Given the description of an element on the screen output the (x, y) to click on. 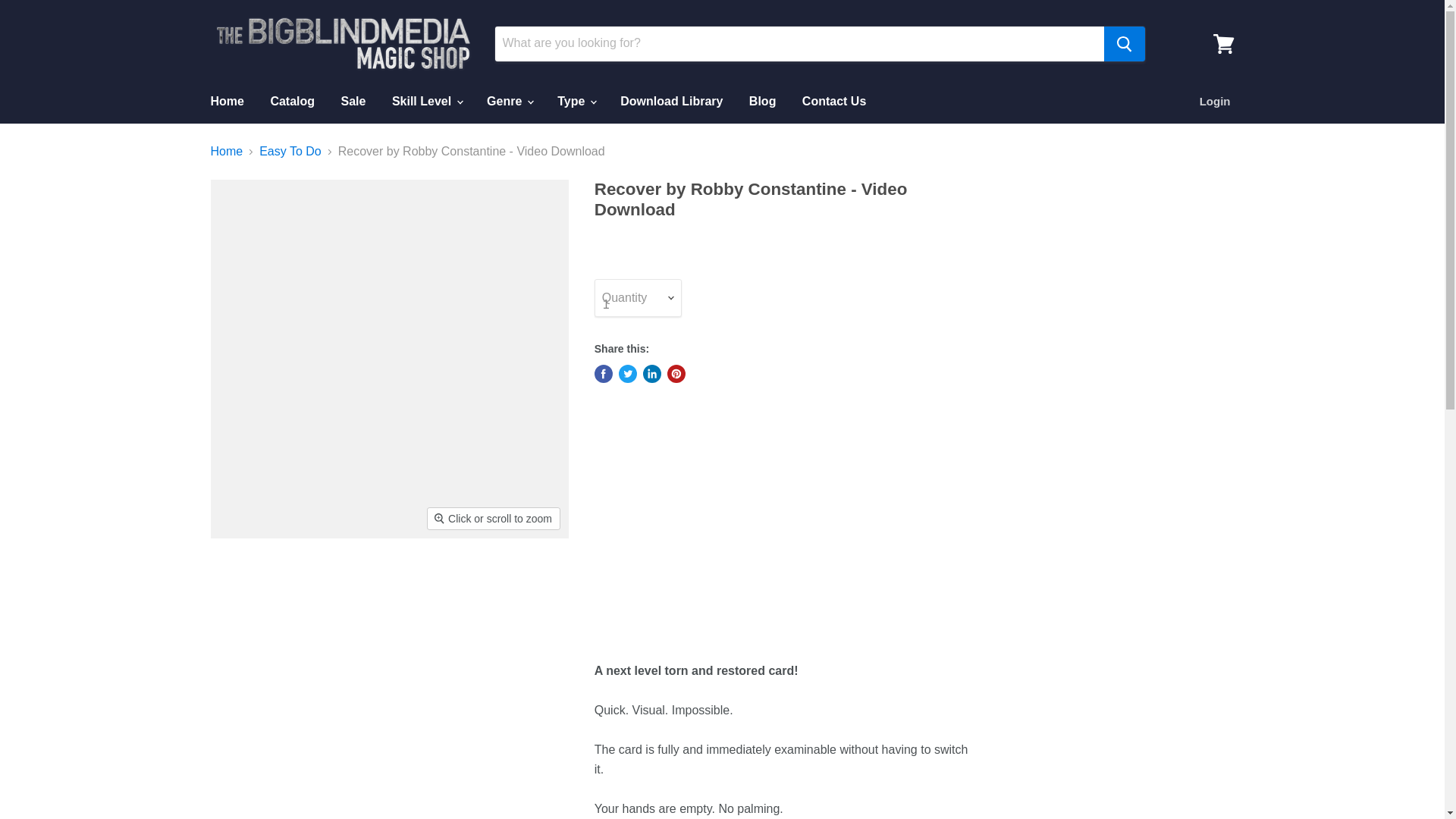
Skill Level (425, 101)
Type (575, 101)
View cart (1223, 42)
YouTube video player (806, 523)
Genre (509, 101)
Home (226, 101)
Sale (353, 101)
Catalog (292, 101)
